Given the description of an element on the screen output the (x, y) to click on. 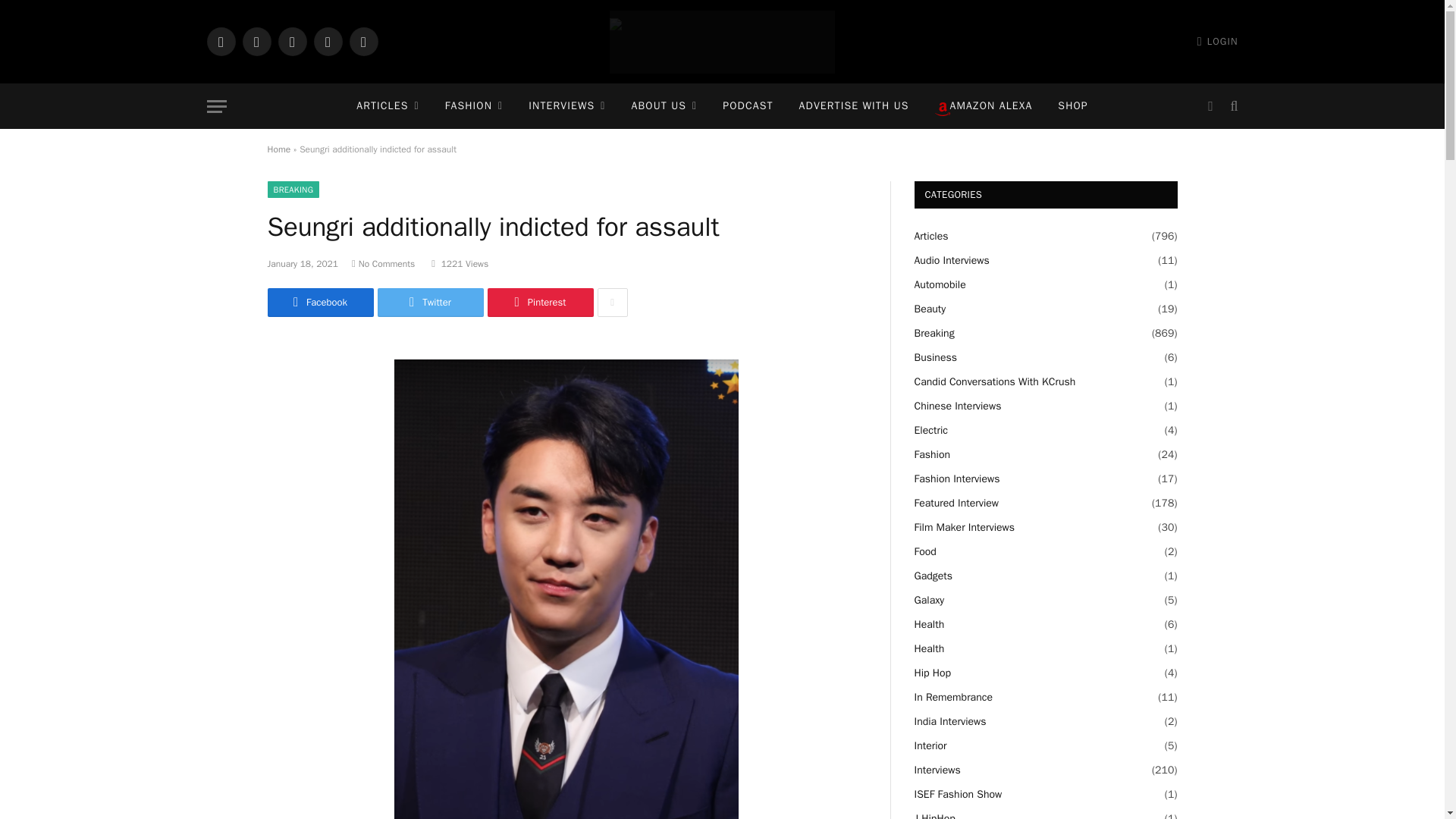
Share on Facebook (319, 302)
K Crush America Magazine (722, 41)
Switch to Dark Design - easier on eyes. (1209, 106)
Share on Pinterest (539, 302)
